Given the description of an element on the screen output the (x, y) to click on. 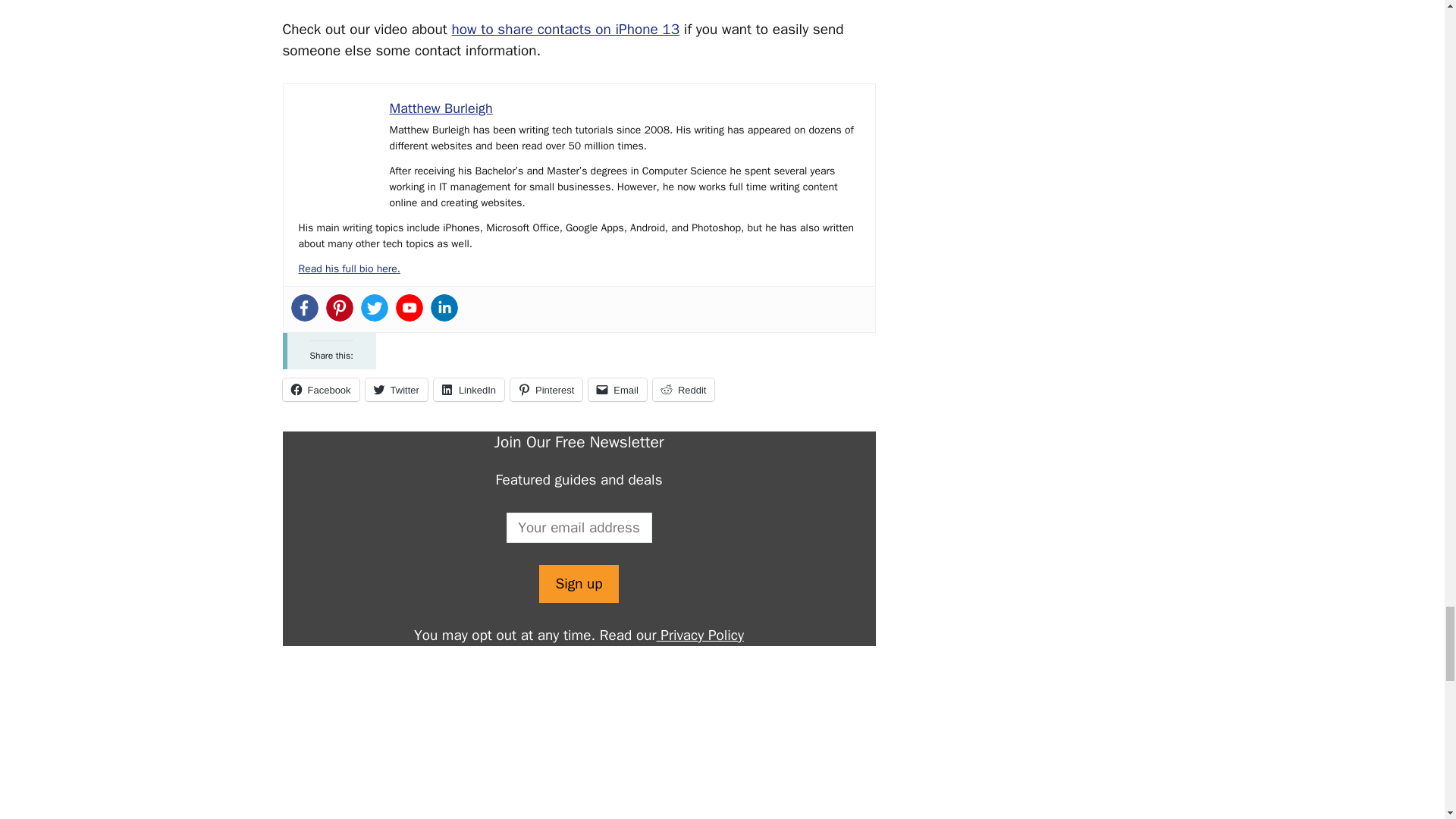
Pinterest (546, 389)
Sign up (577, 584)
Privacy Policy (700, 635)
Twitter (396, 389)
Matthew Burleigh (441, 108)
how to share contacts on iPhone 13 (565, 29)
LinkedIn (468, 389)
Read his full bio here. (349, 268)
Email (617, 389)
Reddit (683, 389)
